Given the description of an element on the screen output the (x, y) to click on. 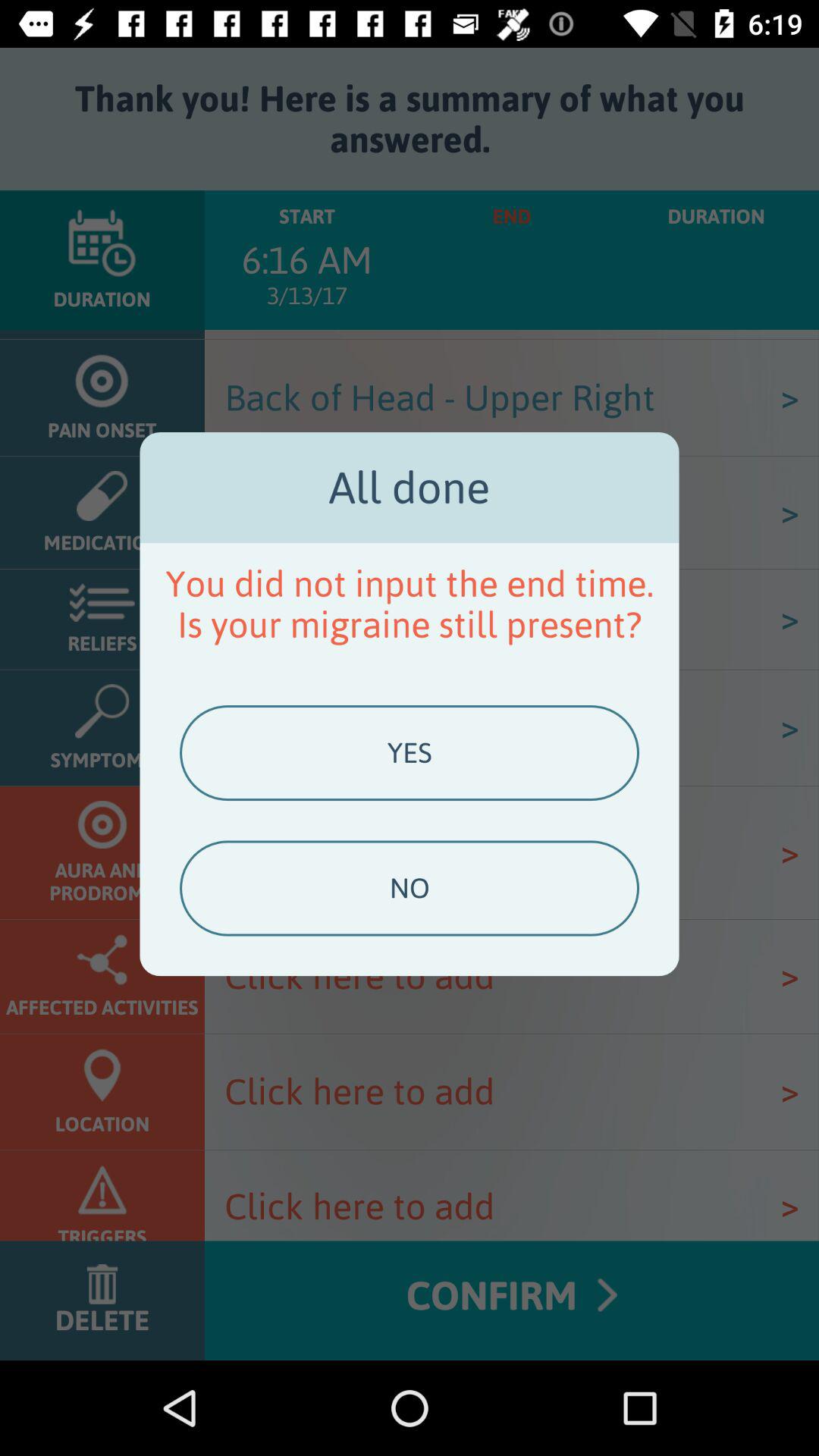
click the no item (409, 888)
